Given the description of an element on the screen output the (x, y) to click on. 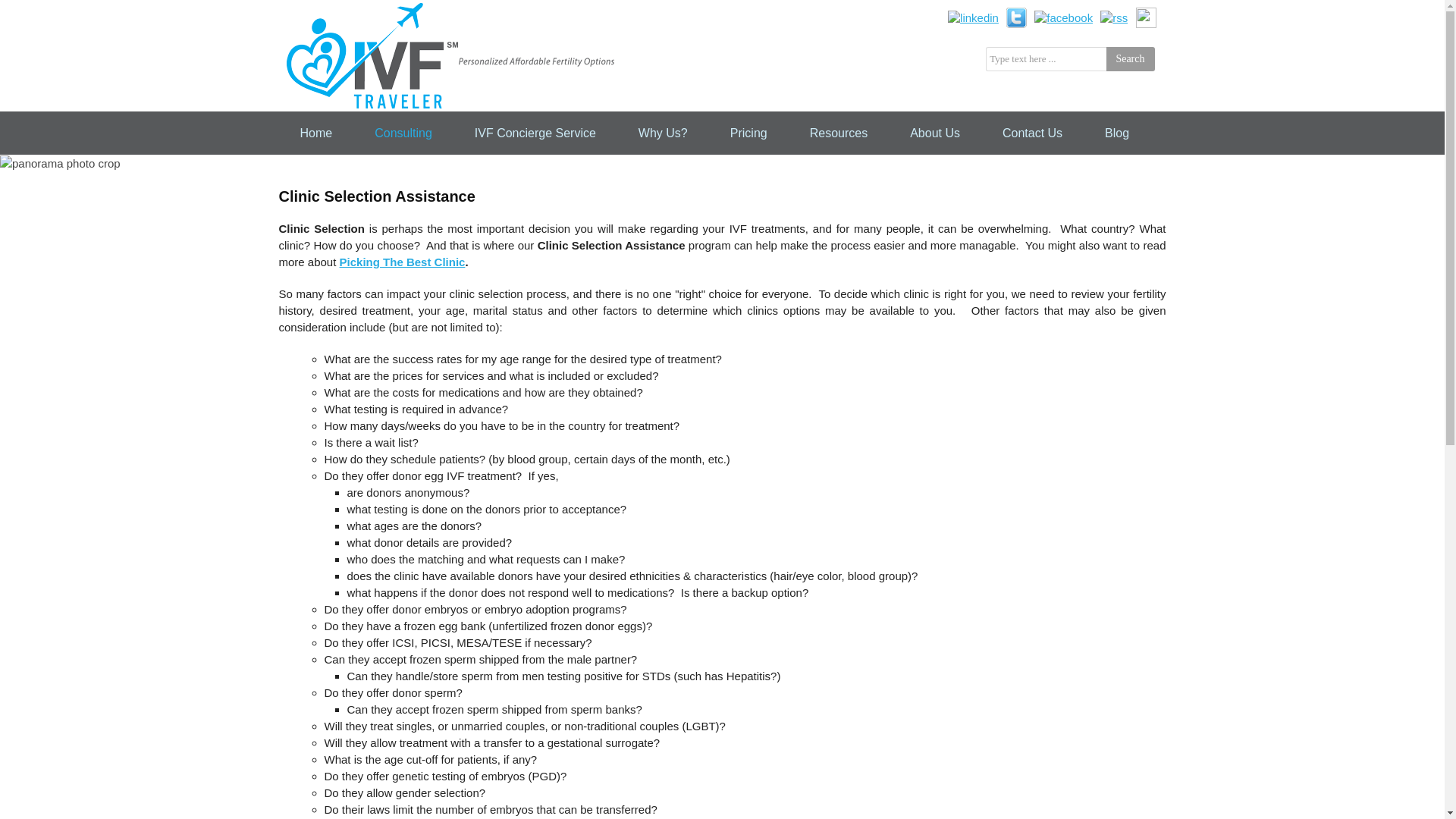
Home (316, 132)
facebook (1063, 15)
Resources (838, 132)
About Us (934, 132)
Search (1130, 58)
Picking The Best Clinic (402, 261)
Linked In (972, 15)
Why Us? (663, 132)
IVF Concierge Service (534, 132)
Pricing (748, 132)
Consulting (403, 132)
Contact Us (1032, 132)
